Given the description of an element on the screen output the (x, y) to click on. 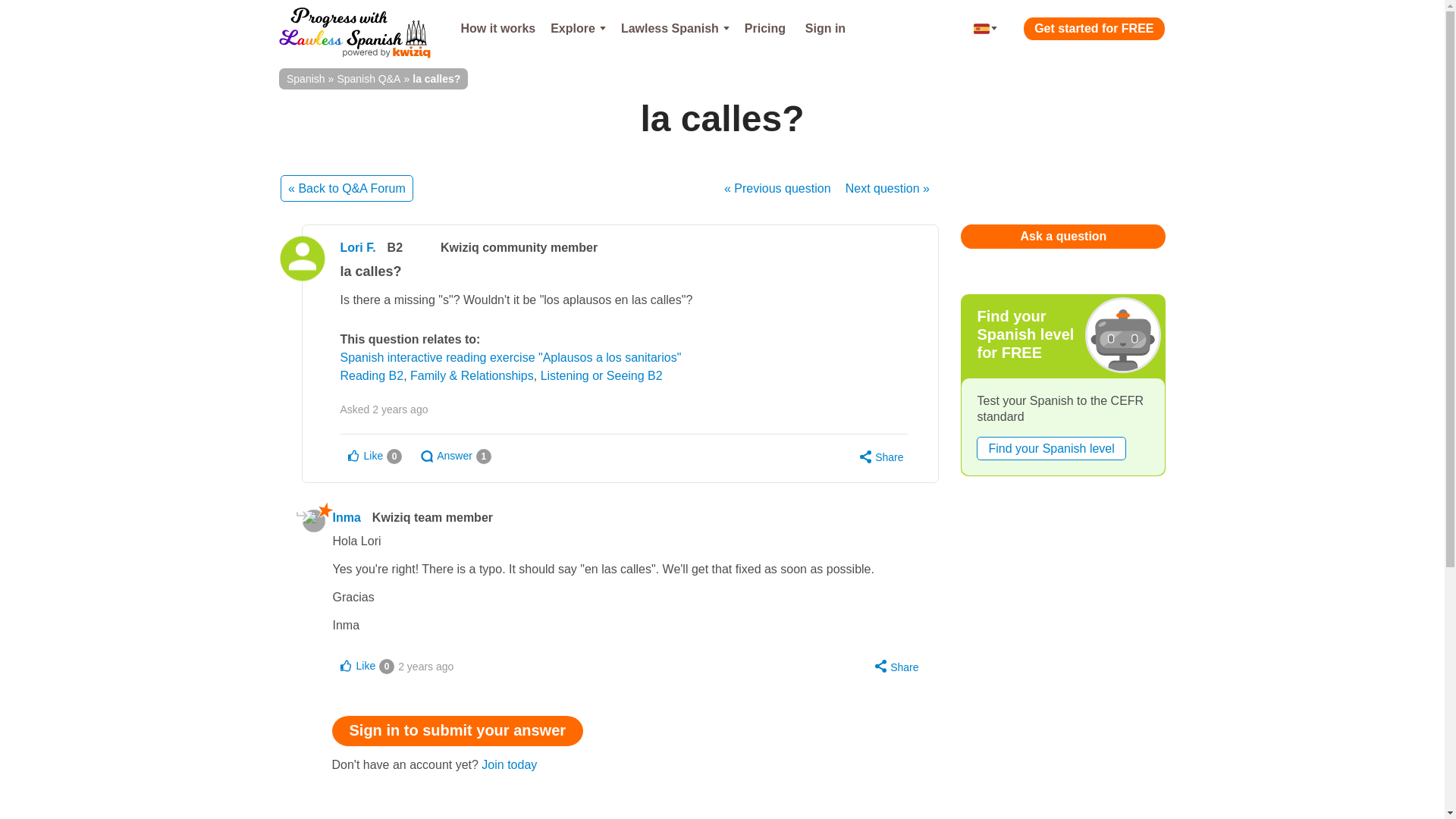
7th December 2021 (424, 666)
Lawless Spanish (674, 28)
Explore (577, 28)
7th December 2021 (400, 409)
How it works (497, 28)
